Given the description of an element on the screen output the (x, y) to click on. 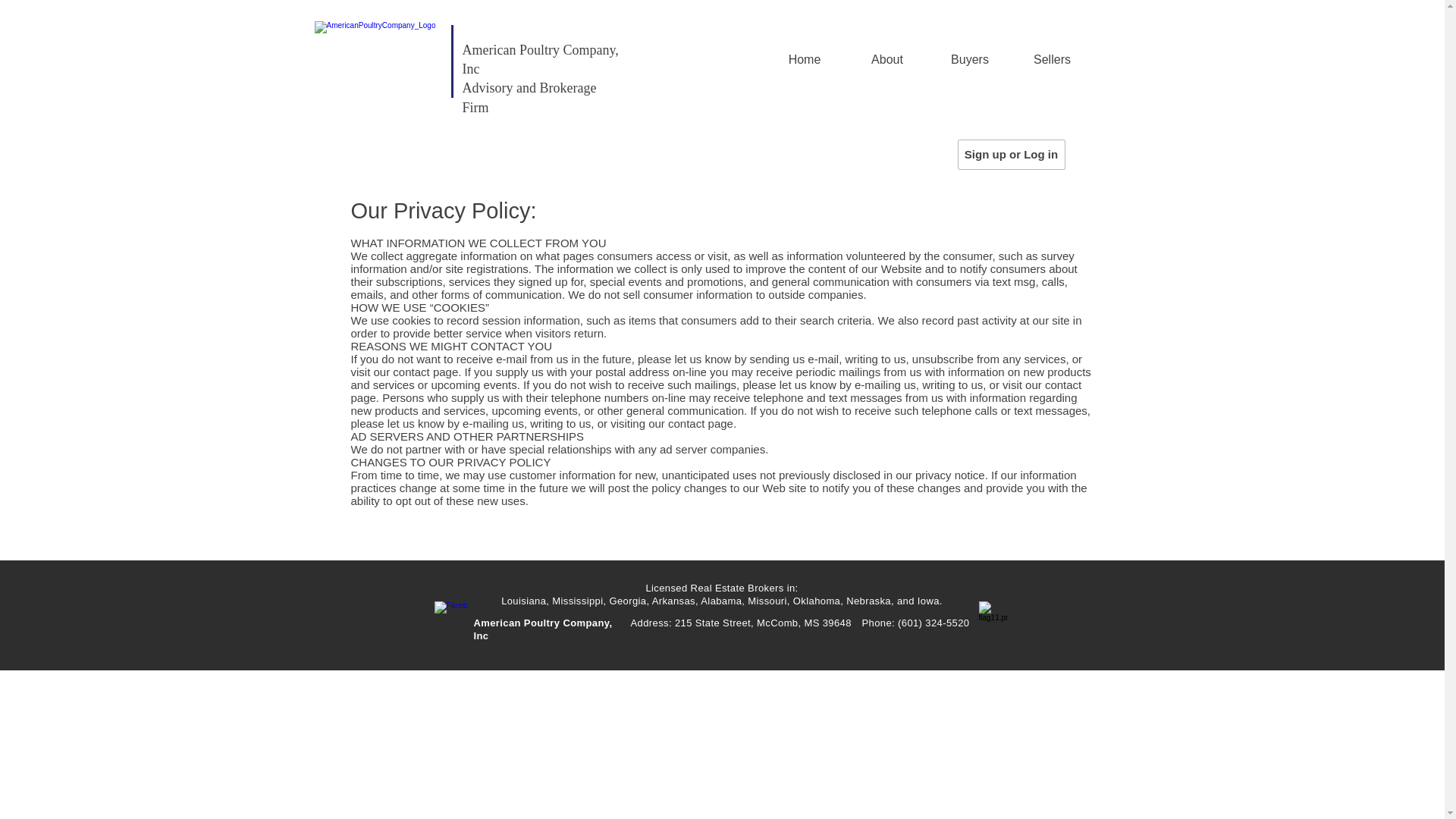
Sellers (1052, 59)
About (886, 59)
Buyers (969, 59)
Home (803, 59)
Sign up or Log in (1010, 154)
